Given the description of an element on the screen output the (x, y) to click on. 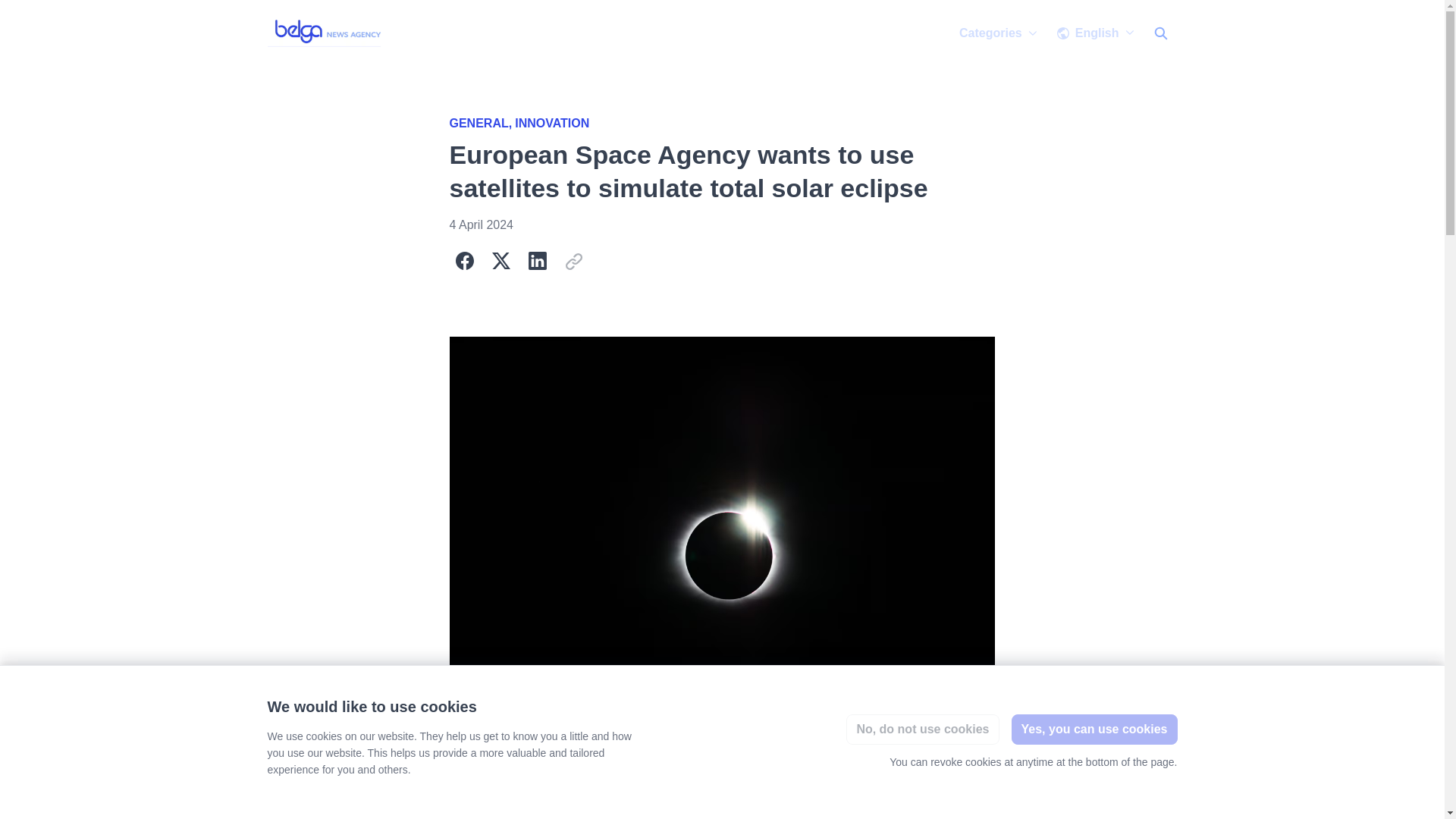
Copy URL (572, 260)
Categories (997, 33)
BELGANEWSAGENCY.EU (326, 33)
GENERAL (481, 123)
INNOVATION (552, 123)
English (1095, 33)
Search (1159, 32)
